Given the description of an element on the screen output the (x, y) to click on. 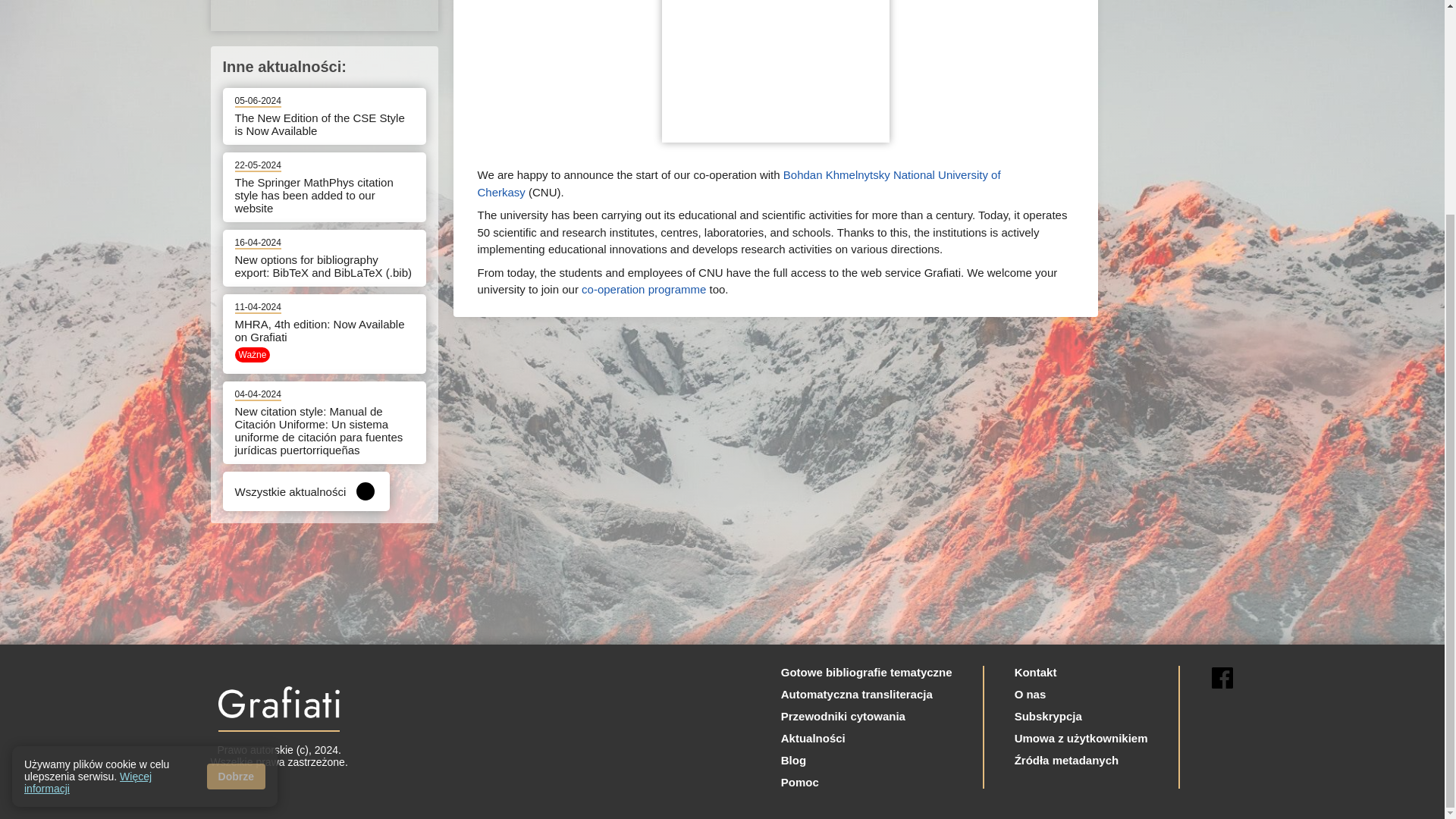
Advertisement (324, 15)
Advertisement (774, 71)
